Given the description of an element on the screen output the (x, y) to click on. 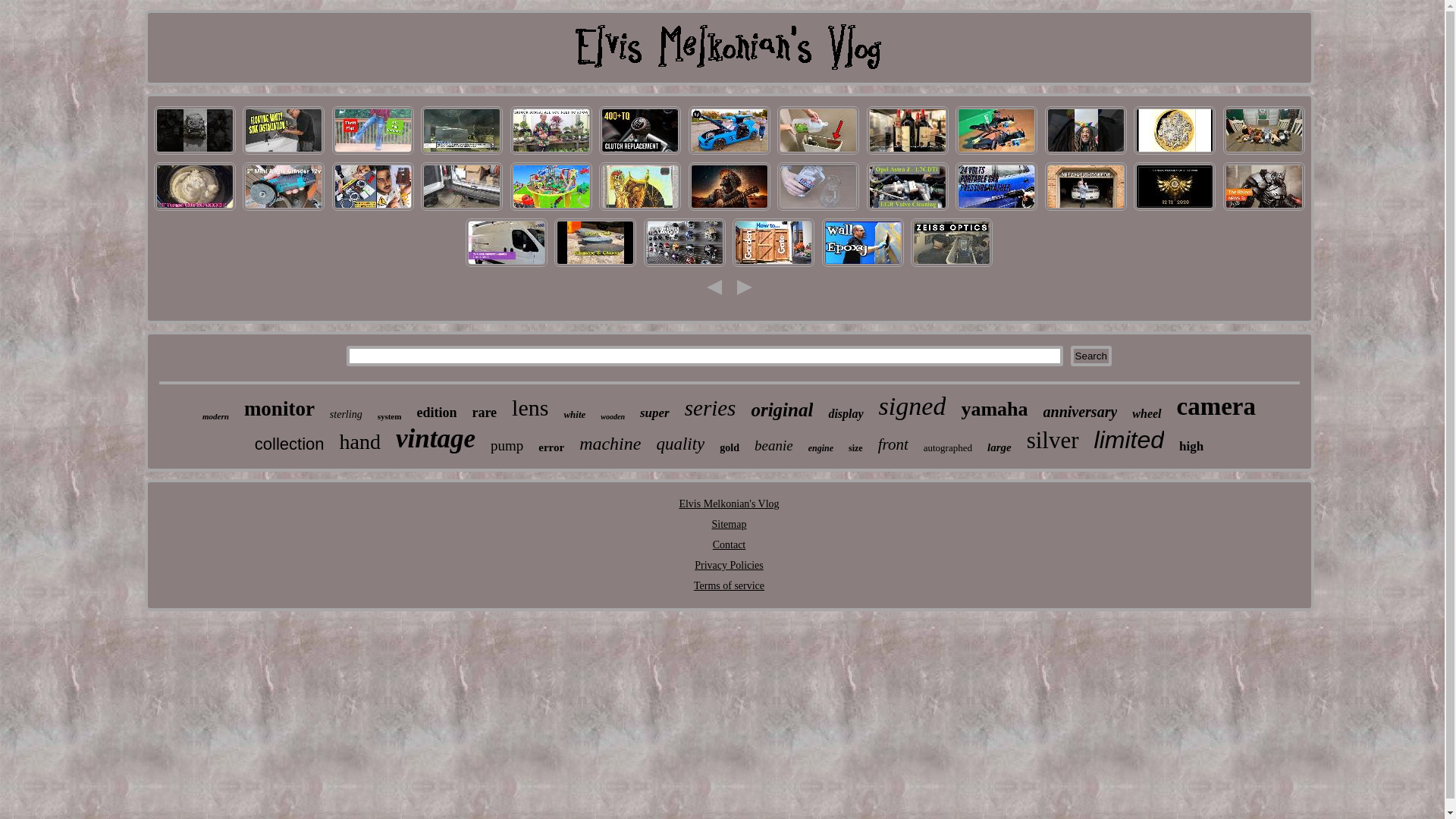
super Element type: text (654, 412)
Privacy Policies Element type: text (728, 565)
limited Element type: text (1129, 440)
engine Element type: text (820, 448)
original Element type: text (781, 409)
edition Element type: text (436, 412)
Elvis Melkonian's Vlog Element type: text (728, 503)
anniversary Element type: text (1080, 411)
Hong Kong Cover Element type: hover (728, 209)
Lampe unique gewehr 98 1916 ww1 Element type: hover (951, 265)
rare Element type: text (483, 412)
Vauxhall Astra Valves Element type: hover (907, 209)
modern Element type: text (215, 415)
vintage Element type: text (435, 438)
Search Element type: text (1090, 355)
high Element type: text (1191, 446)
machine Element type: text (609, 443)
front Element type: text (893, 444)
monitor Element type: text (279, 408)
Sitemap Element type: text (729, 524)
wooden Element type: text (612, 416)
collection Element type: text (289, 444)
wheel Element type: text (1146, 413)
camera Element type: text (1215, 406)
white Element type: text (574, 414)
hand Element type: text (359, 441)
Affiche Ancienne Imprimerie Wetterwald Bordeaux Chais Vin Element type: hover (907, 153)
Terms of service Element type: text (728, 585)
gold Element type: text (729, 448)
sterling Element type: text (345, 414)
yamaha Element type: text (993, 409)
signed Element type: text (912, 406)
A Pair Of Antique Sterling Silver Glass Perfume Bottles Element type: hover (818, 209)
size Element type: text (855, 448)
beanie Element type: text (773, 445)
Wooden gates. Made to measure. Five bar Half paling type Element type: hover (773, 265)
lens Element type: text (529, 407)
large Element type: text (999, 447)
series Element type: text (710, 407)
display Element type: text (845, 413)
quality Element type: text (679, 444)
autographed Element type: text (947, 448)
error Element type: text (551, 447)
silver Element type: text (1052, 440)
pump Element type: text (506, 445)
system Element type: text (389, 415)
Contact Element type: text (729, 544)
